Given the description of an element on the screen output the (x, y) to click on. 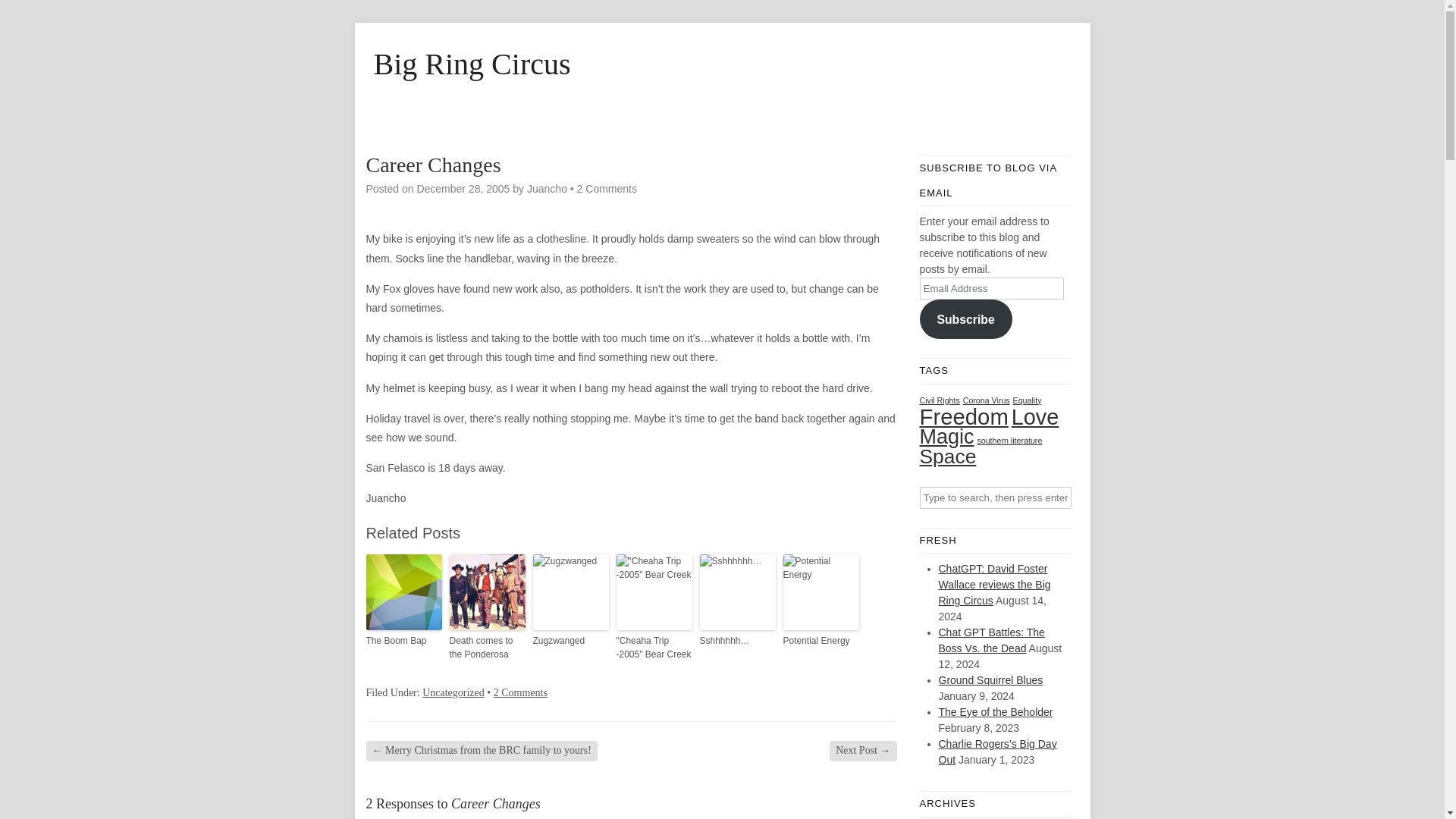
2 Comments (520, 692)
Chat GPT Battles: The Boss Vs. the Dead (992, 640)
Search (23, 10)
Magic (946, 436)
Love (1035, 416)
Subscribe (964, 319)
Space (946, 455)
Freedom (962, 415)
Ground Squirrel Blues (991, 680)
2 Comments (606, 188)
